Given the description of an element on the screen output the (x, y) to click on. 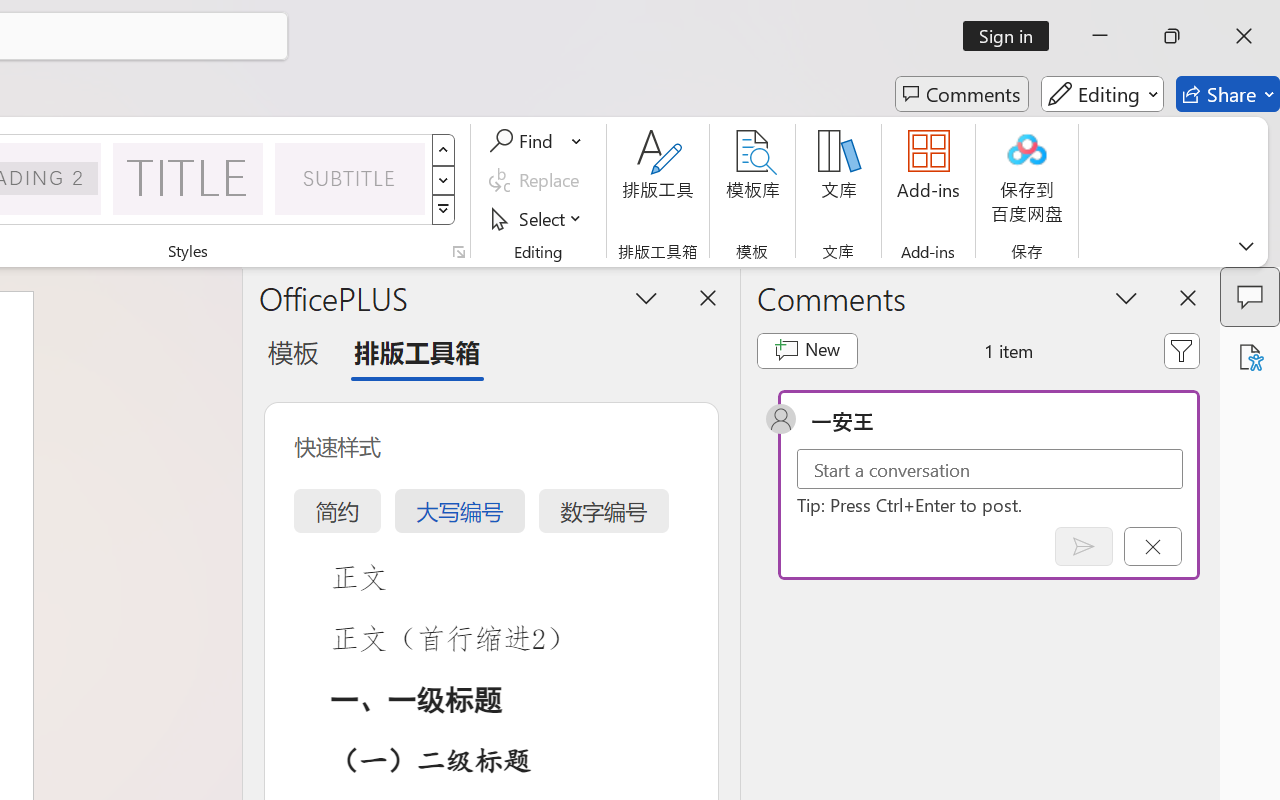
Post comment (Ctrl + Enter) (1083, 546)
New comment (806, 350)
Accessibility Assistant (1249, 357)
Cancel (1152, 546)
